Given the description of an element on the screen output the (x, y) to click on. 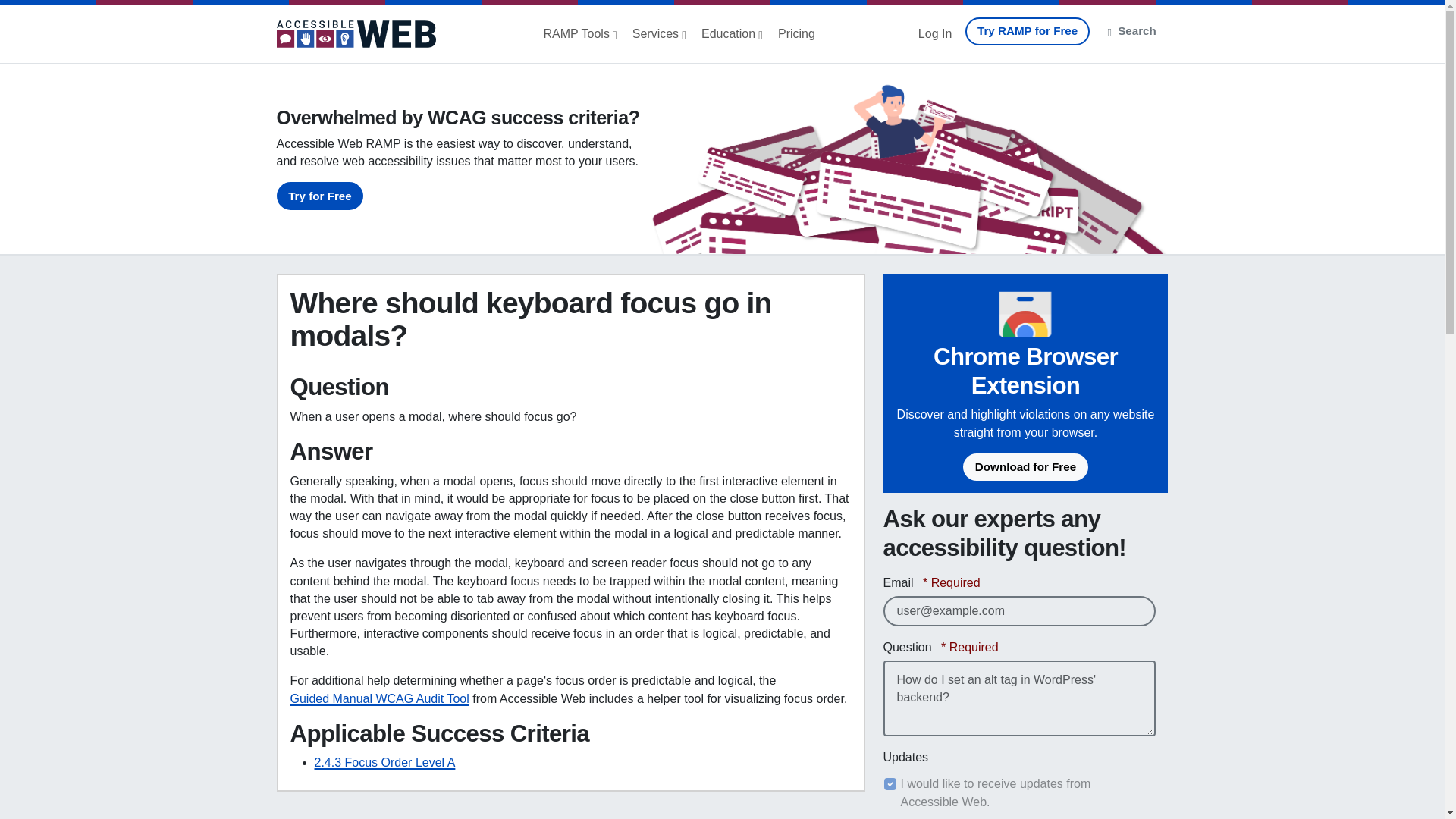
Search (1132, 31)
Download for Free (1024, 467)
Try for Free (319, 195)
RAMP Tools (579, 33)
Services (659, 33)
Pricing (796, 33)
Education (732, 33)
RAMP Tools (579, 33)
I would like to receive updates from Accessible Web. (889, 784)
Services (659, 33)
